Given the description of an element on the screen output the (x, y) to click on. 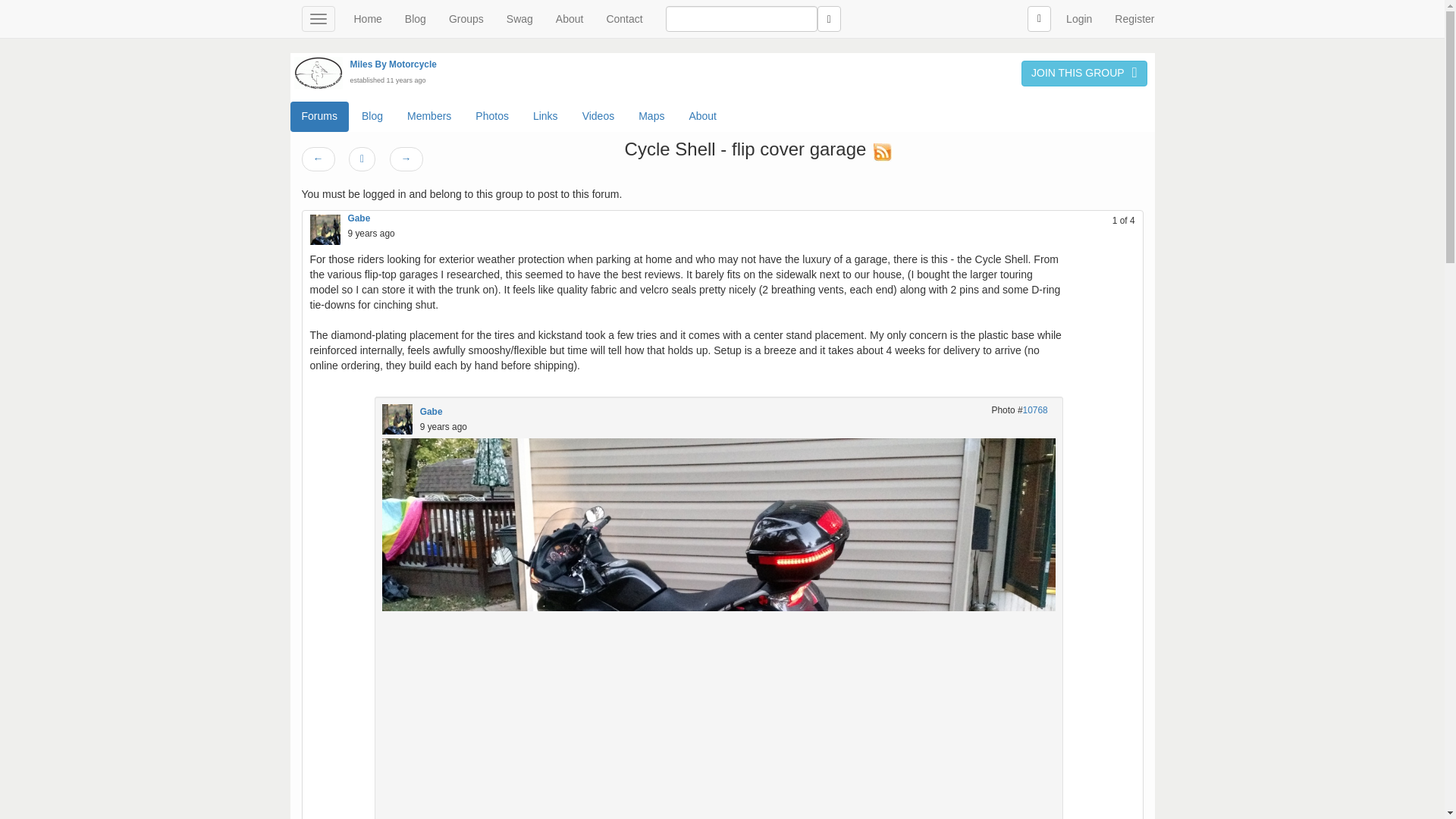
Photos (491, 116)
Prev Thread (317, 159)
About (702, 116)
Miles By Motorcycle (393, 63)
About (569, 18)
Advanced Search (1039, 18)
Forums (318, 116)
Videos (598, 116)
Login (1078, 18)
10768 (1035, 409)
